Given the description of an element on the screen output the (x, y) to click on. 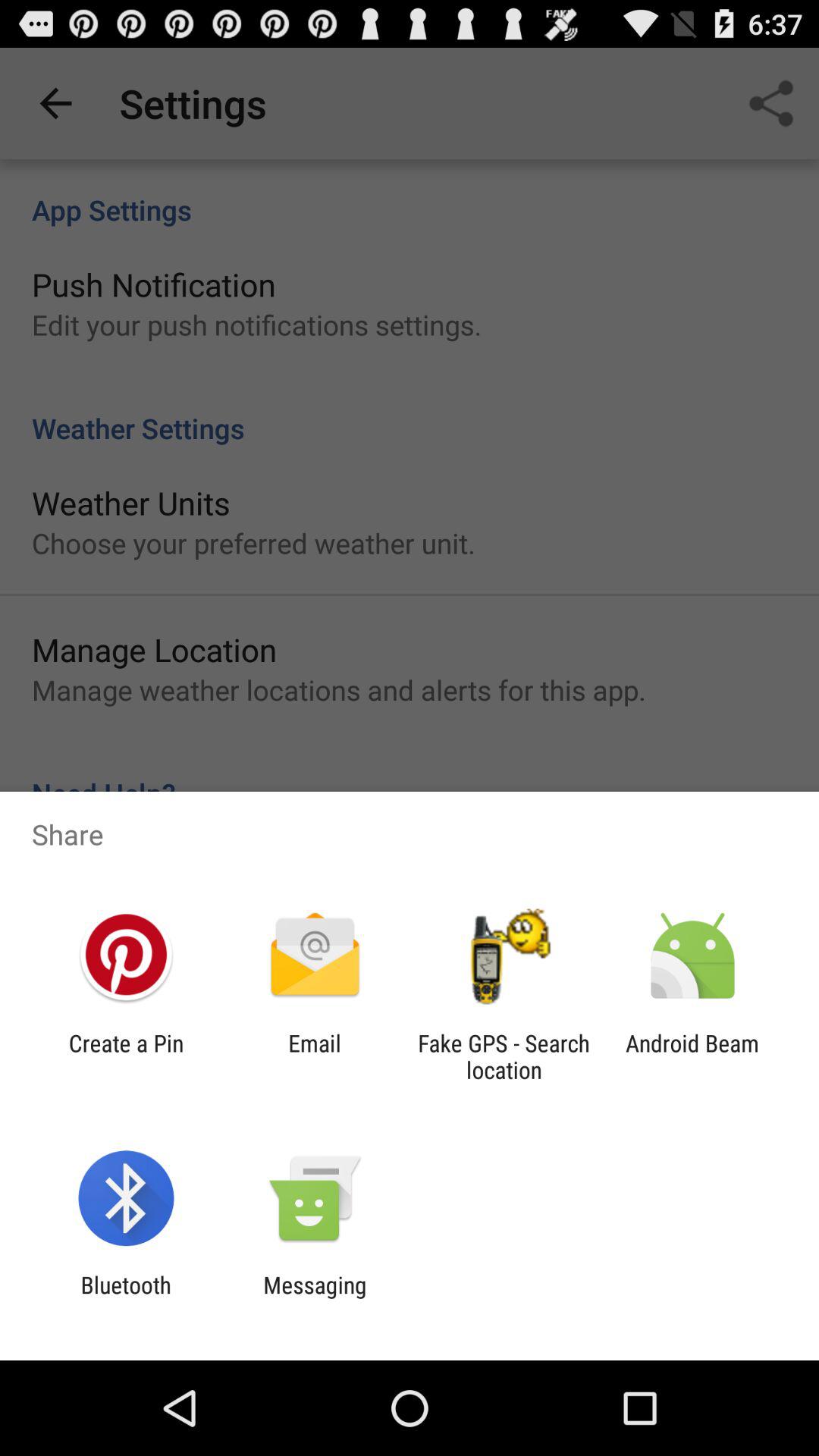
click the app to the left of android beam app (503, 1056)
